Given the description of an element on the screen output the (x, y) to click on. 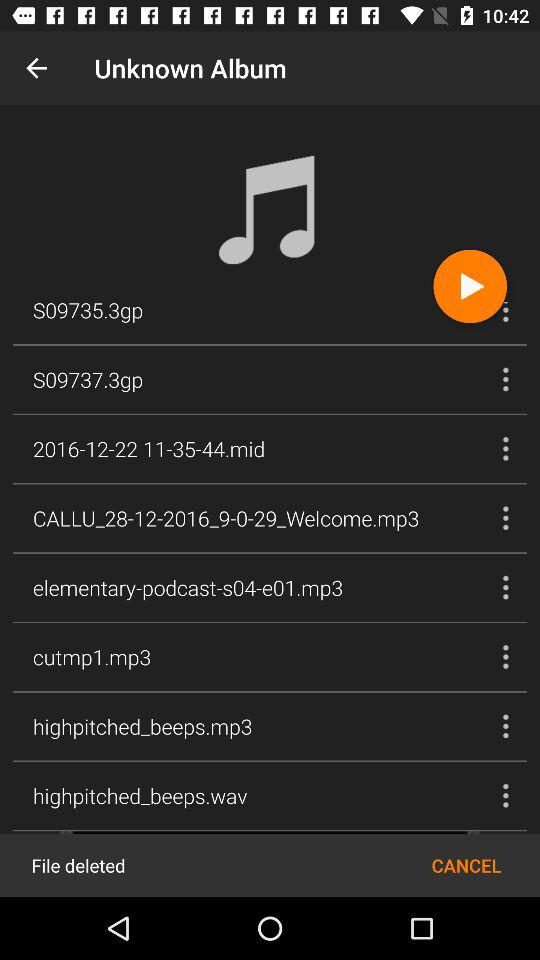
press s09735.3gp item (88, 312)
